Given the description of an element on the screen output the (x, y) to click on. 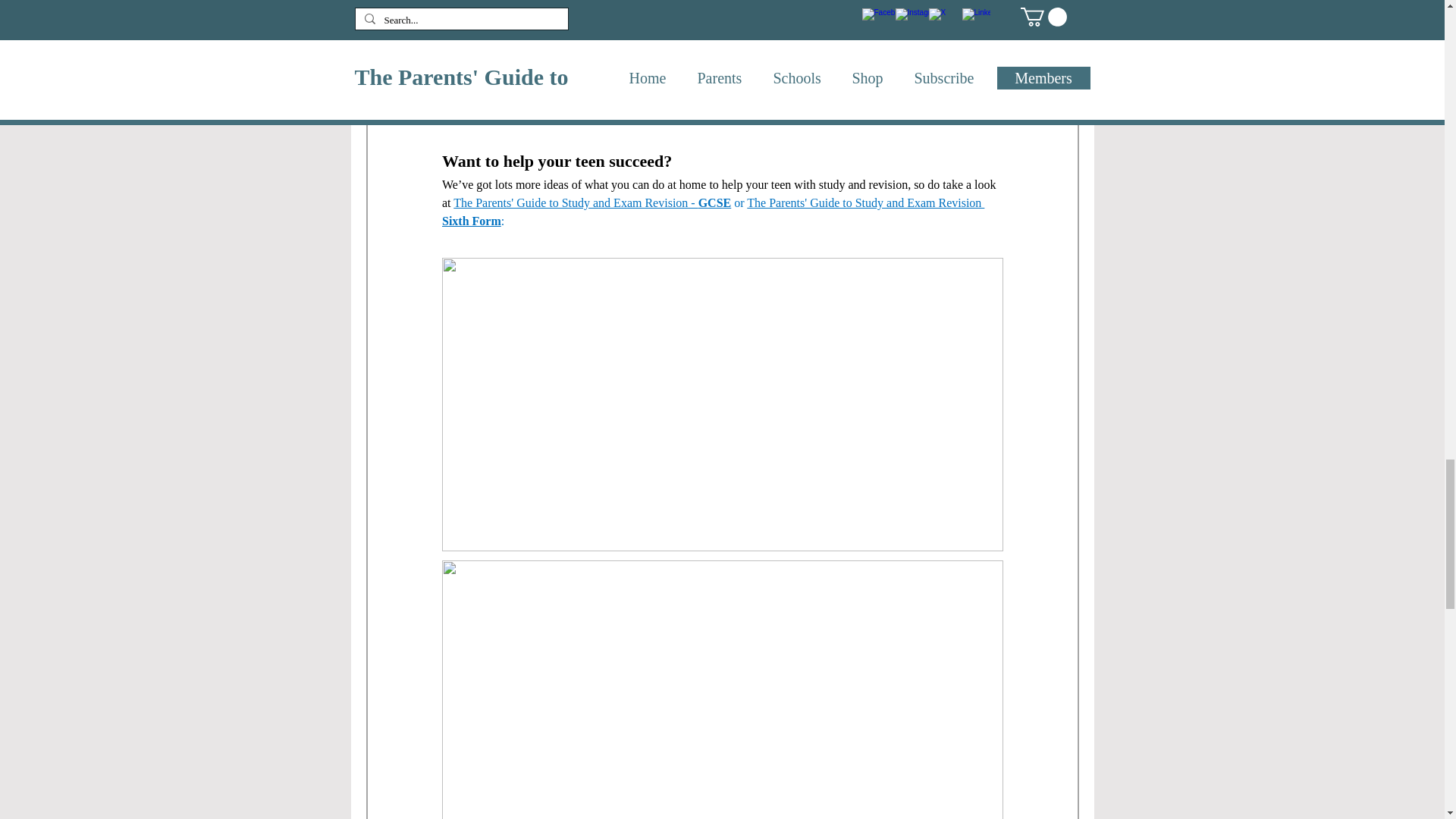
Sixth Form (470, 220)
GCSE (713, 202)
The Parents' Guide to Study and Exam Revision -  (574, 202)
The Parents' Guide to Study and Exam Revision  (865, 202)
